Given the description of an element on the screen output the (x, y) to click on. 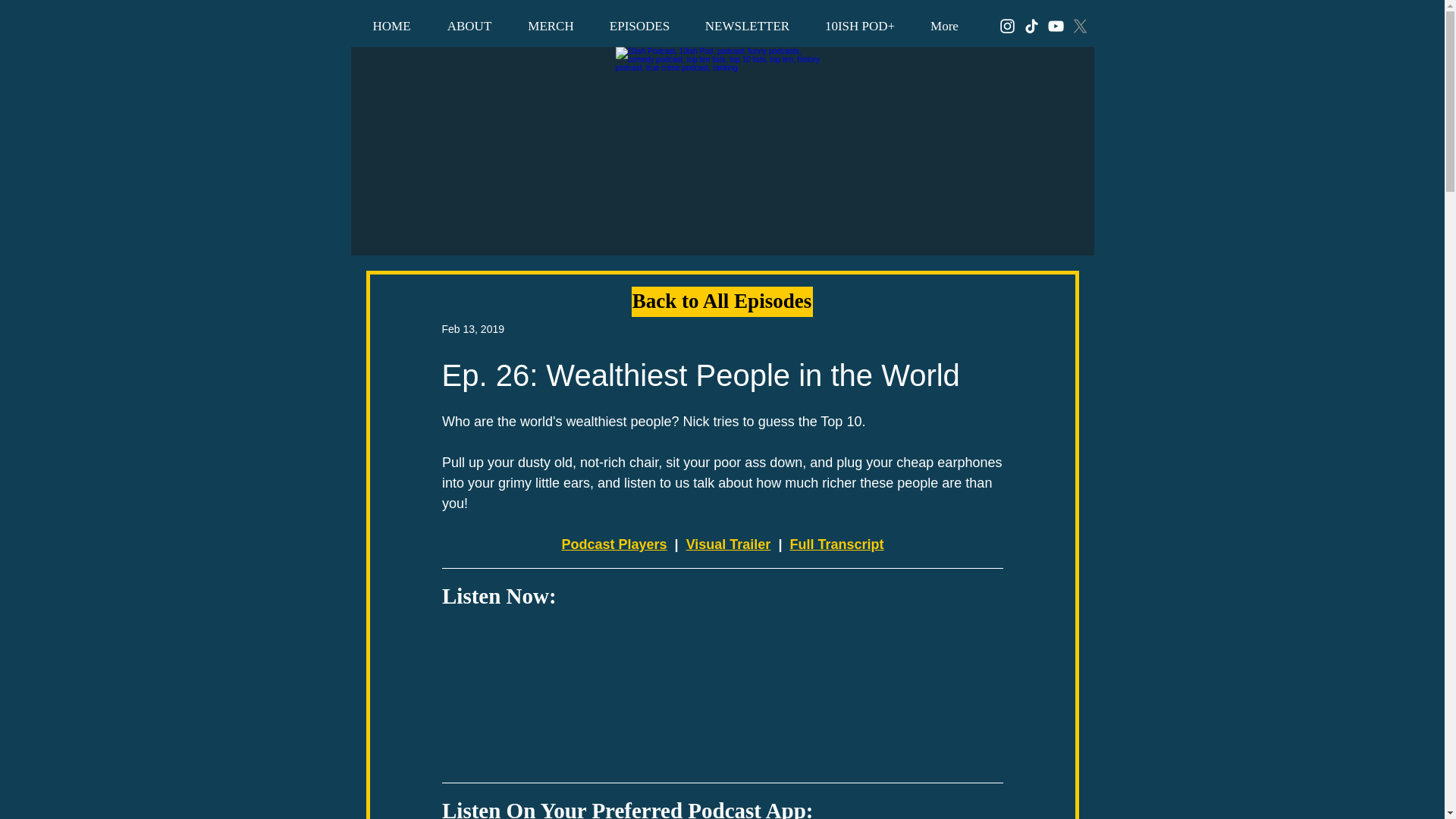
Visual Trailer (727, 544)
Back to All Episodes (721, 301)
Full Transcript (836, 544)
ABOUT (470, 26)
NEWSLETTER (746, 26)
HOME (392, 26)
Feb 13, 2019 (472, 328)
MERCH (550, 26)
EPISODES (639, 26)
Podcast Players (613, 544)
